Given the description of an element on the screen output the (x, y) to click on. 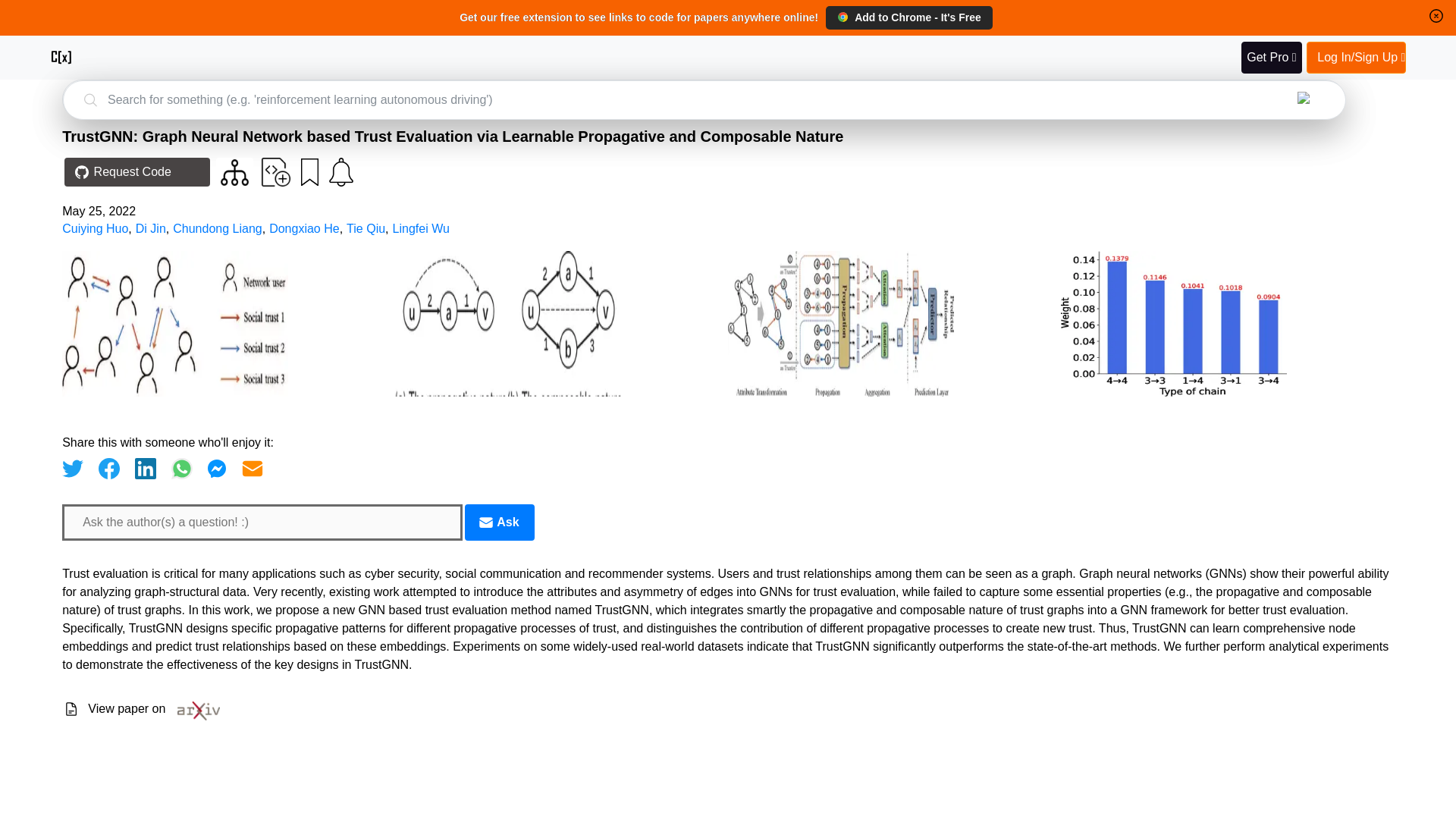
Email Icon Ask (499, 522)
Chundong Liang (217, 228)
Send via Messenger (216, 468)
Share via Email (252, 468)
Lingfei Wu (421, 228)
Cuiying Huo (95, 228)
Di Jin (150, 228)
Email Icon (486, 522)
Dongxiao He (304, 228)
Add to Chrome - It's Free (908, 17)
Ask any Qs from the author (499, 522)
Tie Qiu (365, 228)
Request Code (136, 172)
View code for similar papers (234, 171)
Contribute your code for this paper to the community (275, 172)
